Given the description of an element on the screen output the (x, y) to click on. 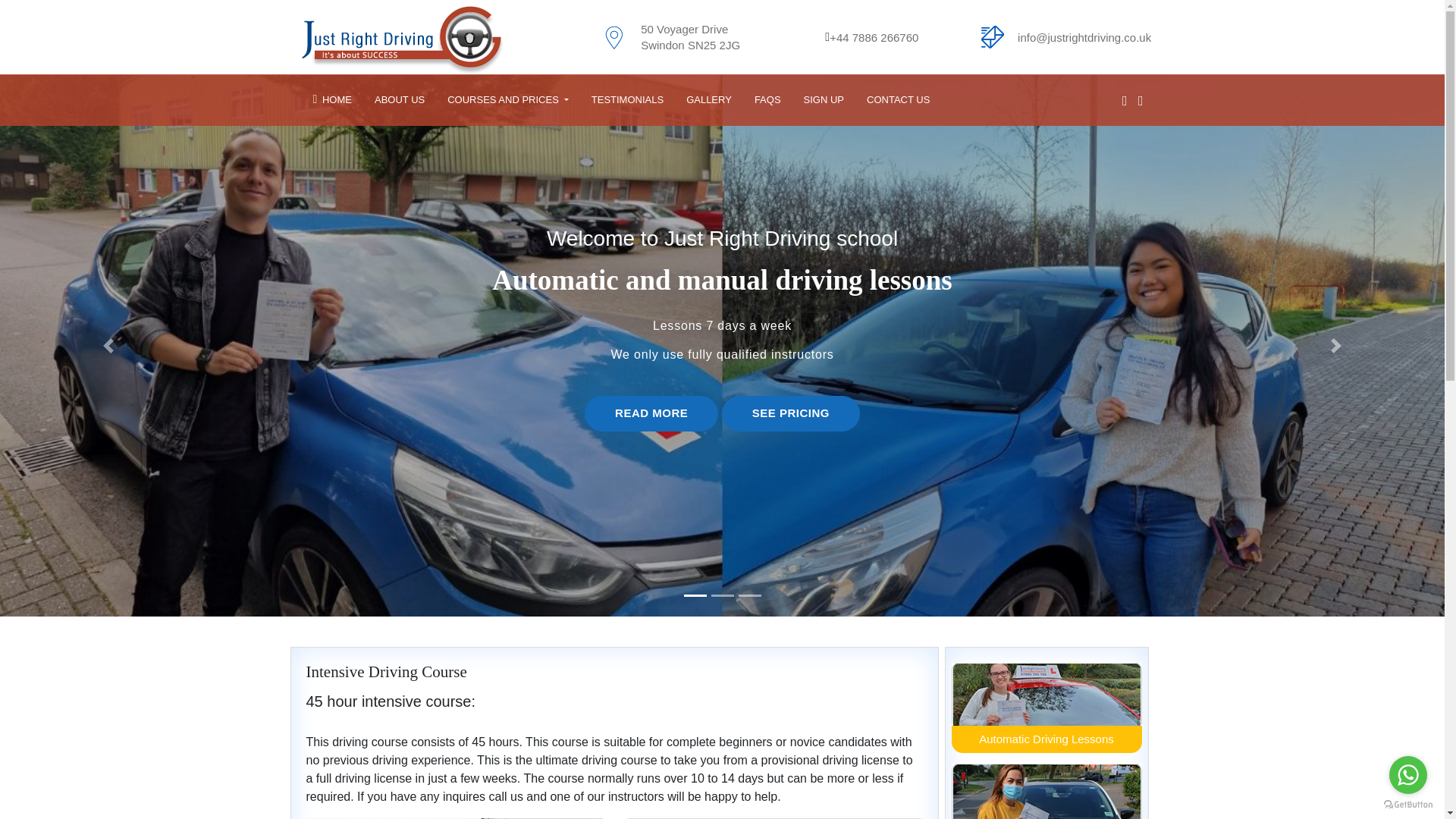
ABOUT US (398, 99)
SEE PRICING (791, 413)
HOME (331, 99)
COURSES AND PRICES (507, 99)
SIGN UP (824, 100)
Automatic Driving Lessons (1045, 739)
Facebook (1120, 101)
READ MORE (651, 413)
TESTIMONIALS (627, 99)
GALLERY (708, 99)
Twitter (1136, 101)
CONTACT US (898, 100)
FAQS (767, 99)
